Given the description of an element on the screen output the (x, y) to click on. 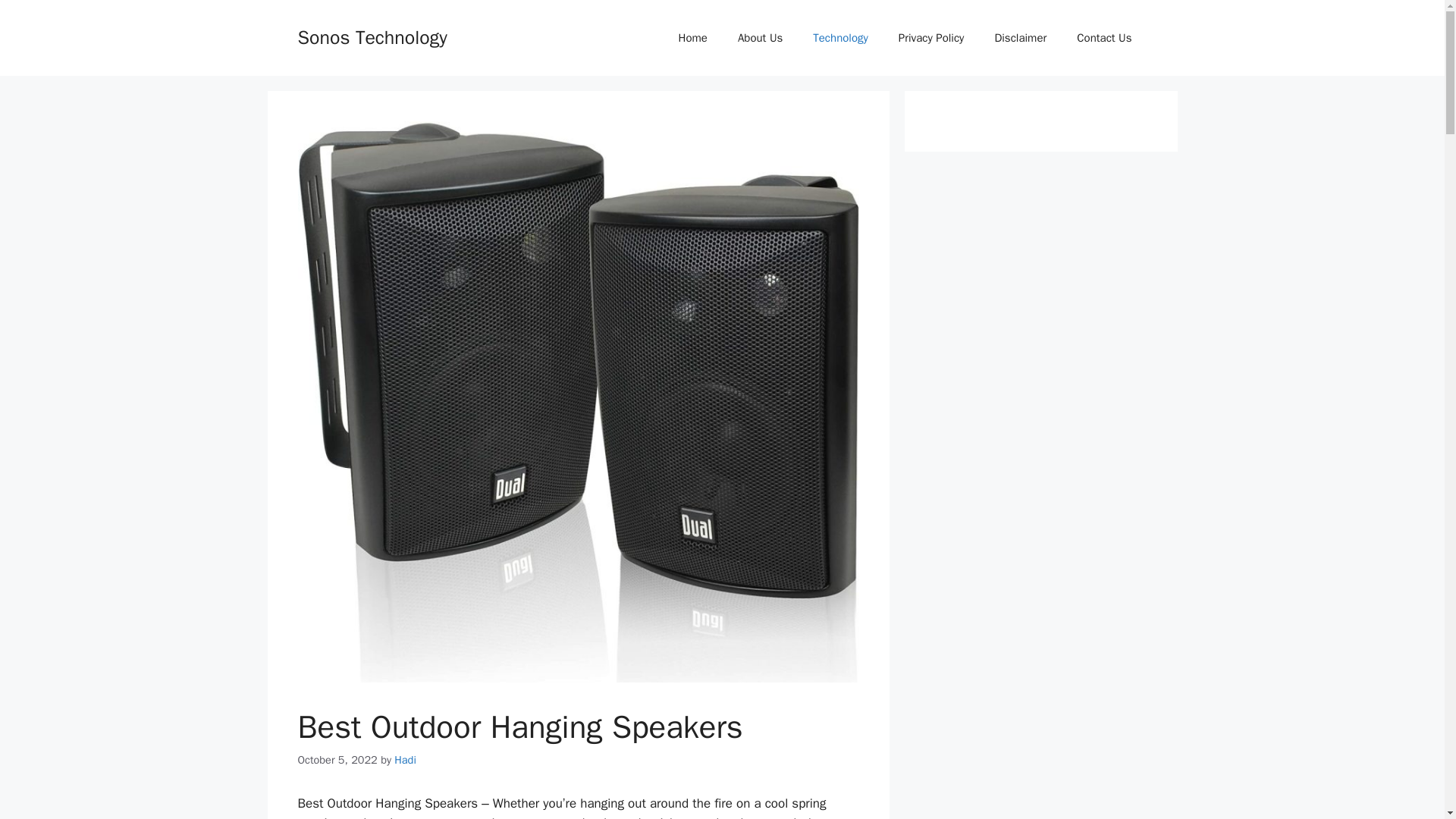
Home (692, 37)
Contact Us (1104, 37)
Disclaimer (1019, 37)
View all posts by Hadi (405, 759)
Hadi (405, 759)
Technology (840, 37)
Privacy Policy (931, 37)
Sonos Technology (371, 37)
About Us (759, 37)
